Given the description of an element on the screen output the (x, y) to click on. 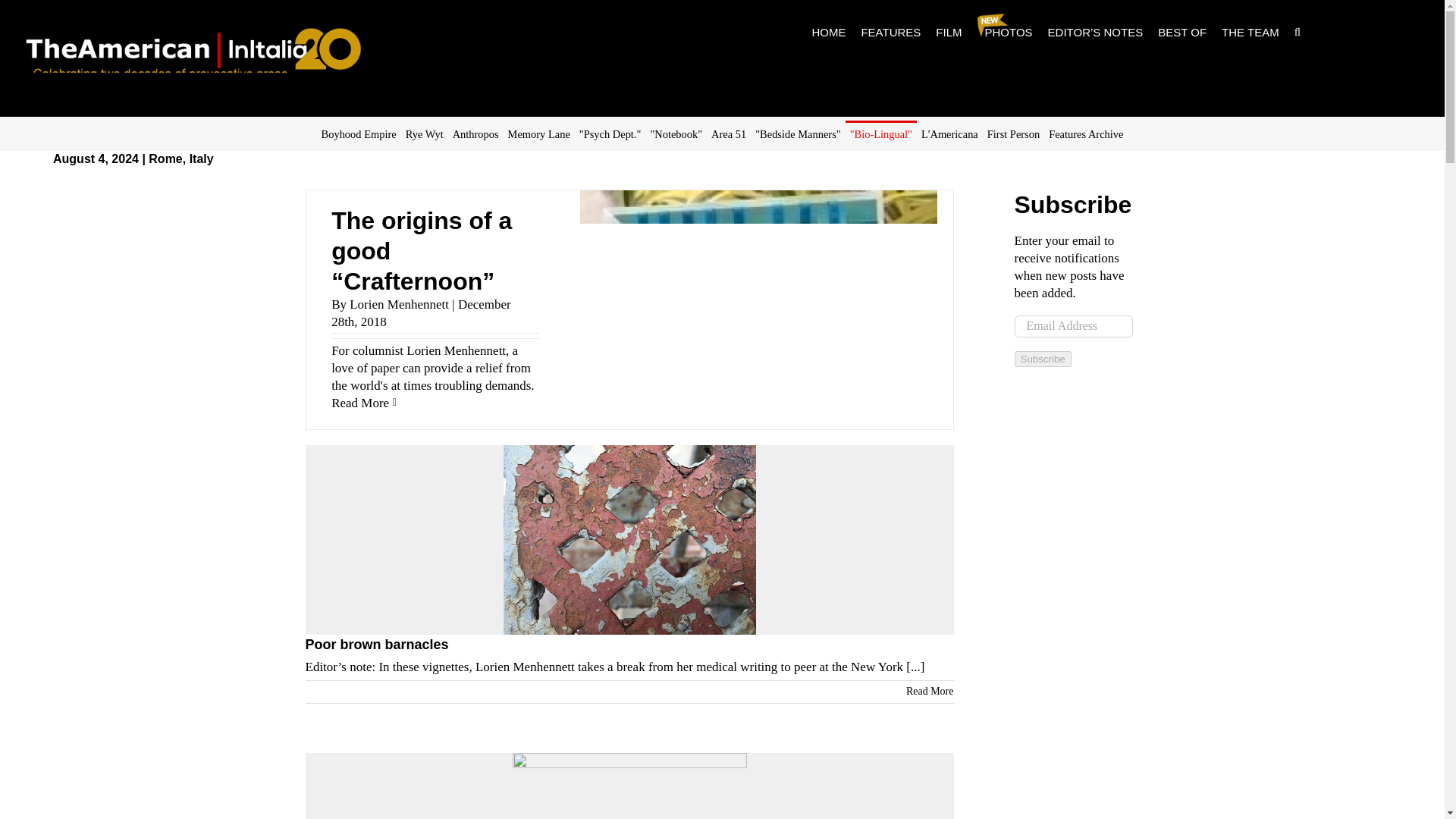
BEST OF (1182, 31)
PHOTOS (1005, 31)
FEATURES (890, 31)
